Given the description of an element on the screen output the (x, y) to click on. 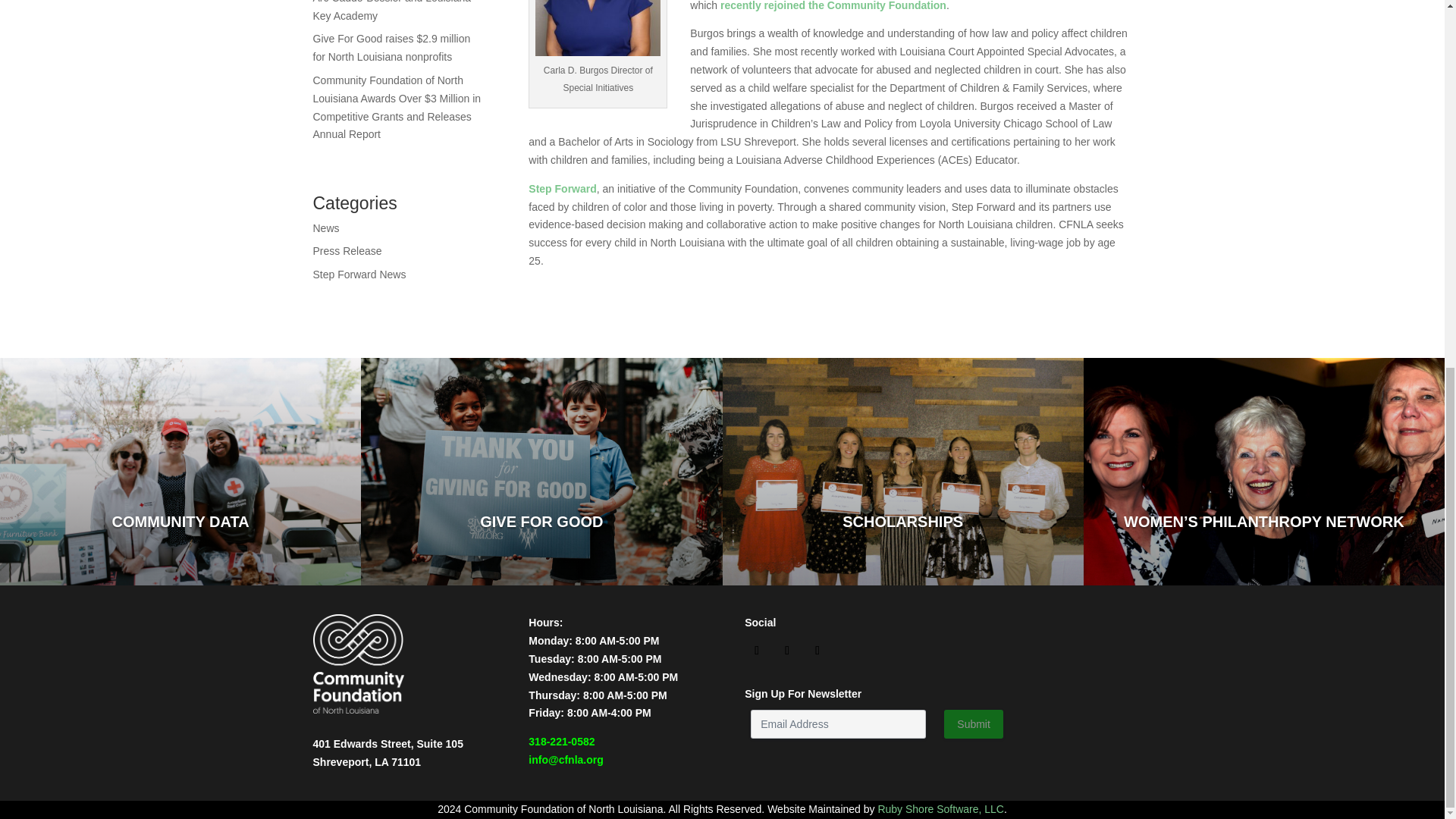
Follow on Instagram (786, 650)
Follow on Facebook (756, 650)
Submit (973, 724)
Follow on LinkedIn (817, 650)
